Given the description of an element on the screen output the (x, y) to click on. 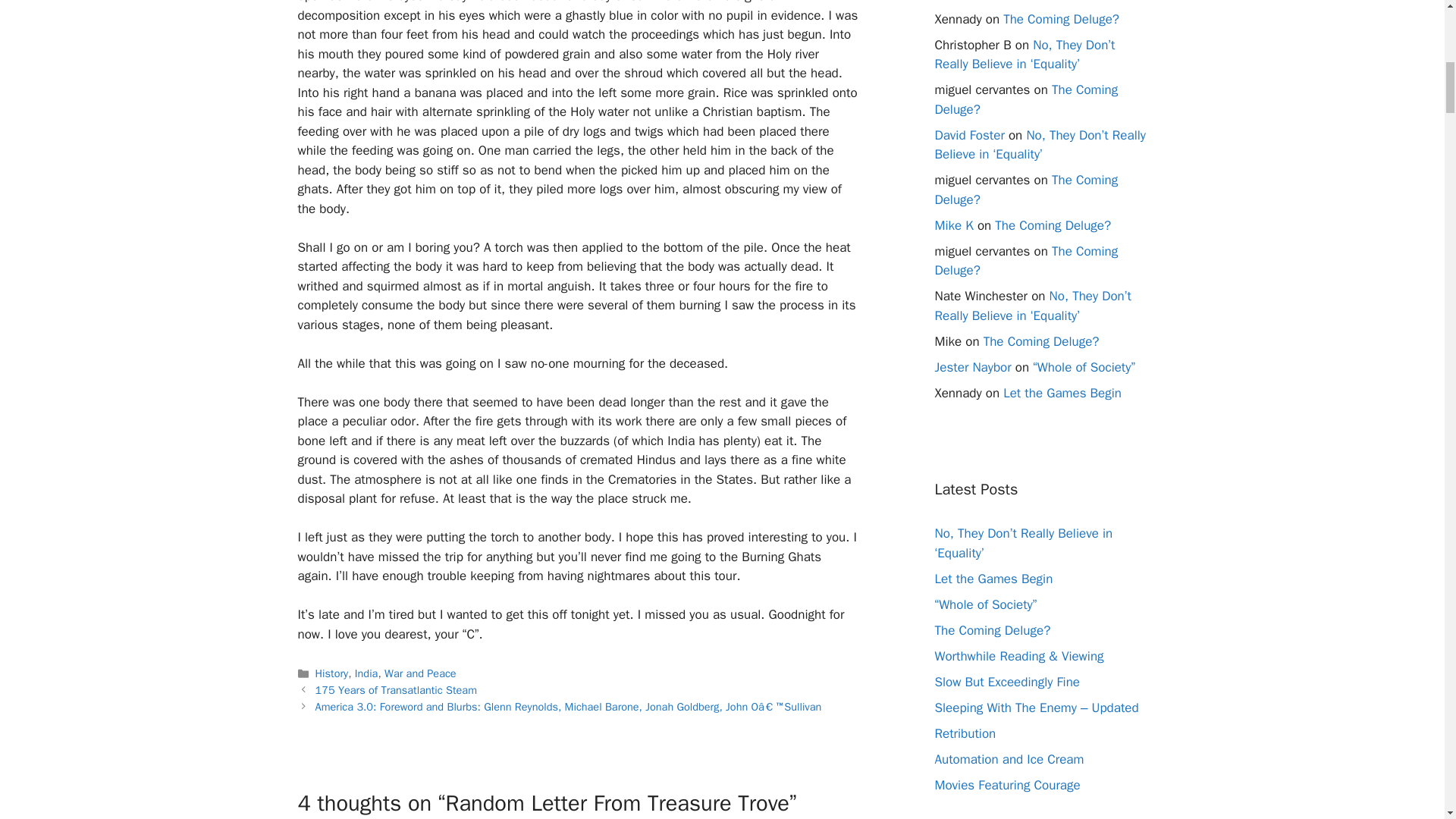
Scroll back to top (1406, 720)
India (366, 673)
War and Peace (420, 673)
175 Years of Transatlantic Steam (396, 689)
History (332, 673)
